Given the description of an element on the screen output the (x, y) to click on. 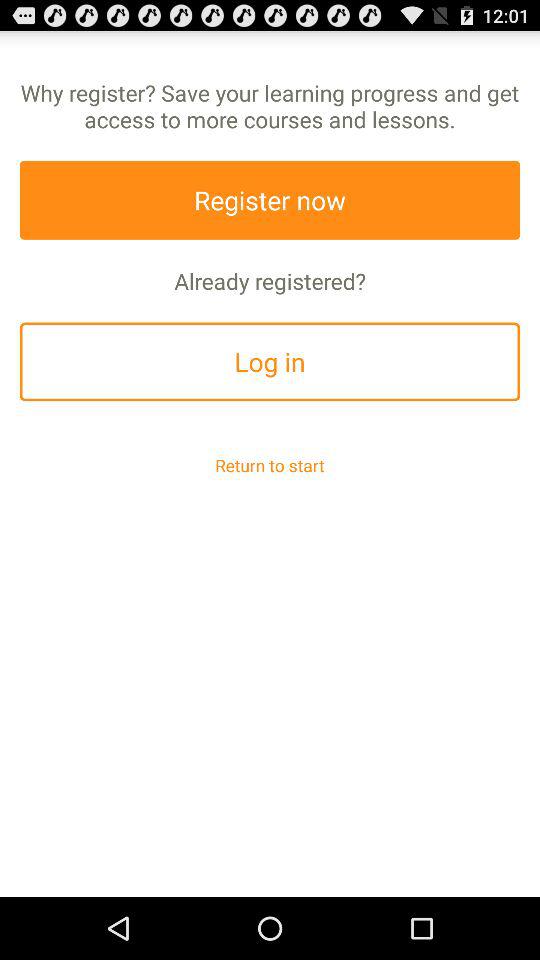
select the item above the already registered? (269, 199)
